Given the description of an element on the screen output the (x, y) to click on. 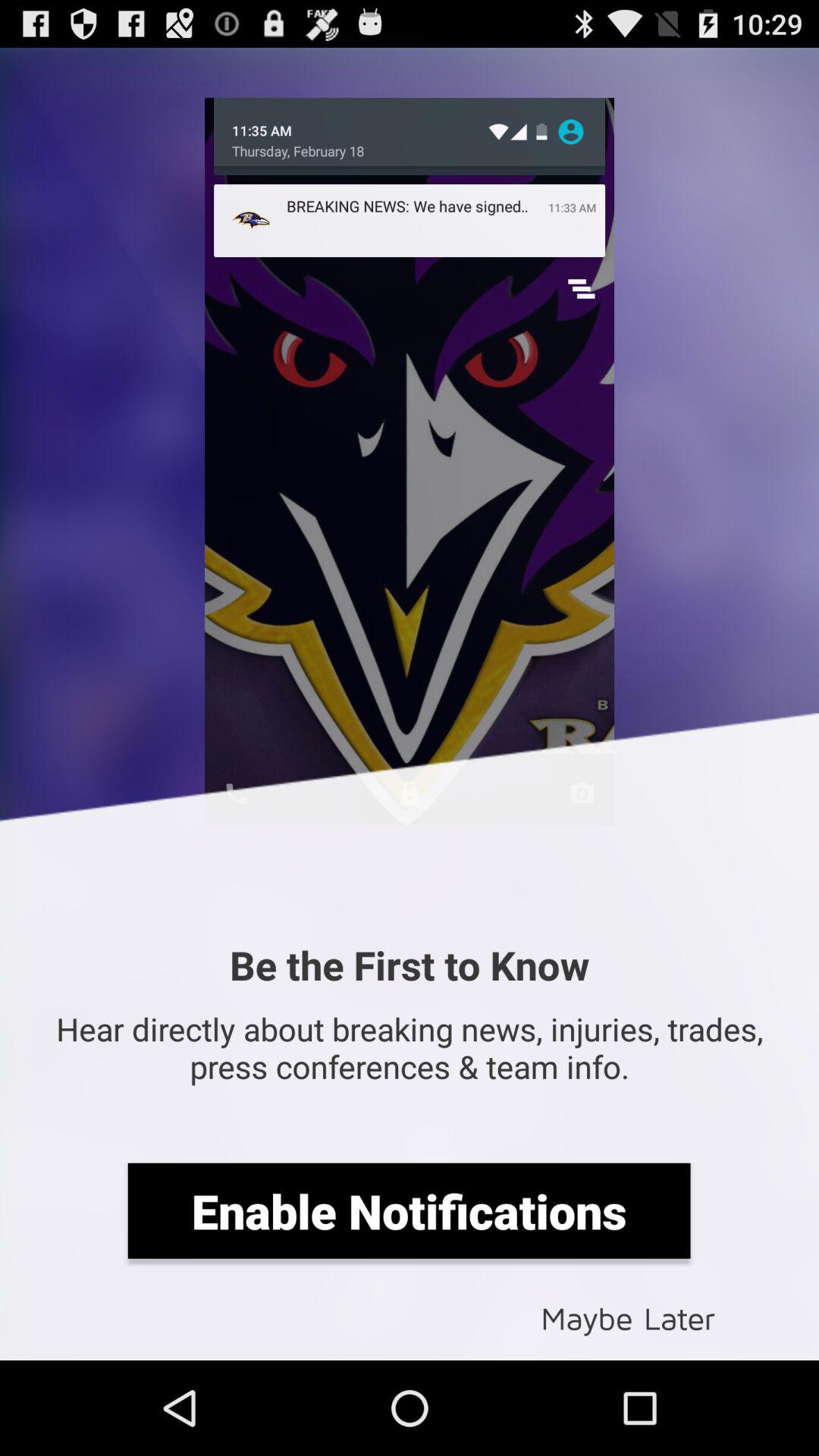
launch the maybe later item (627, 1317)
